Given the description of an element on the screen output the (x, y) to click on. 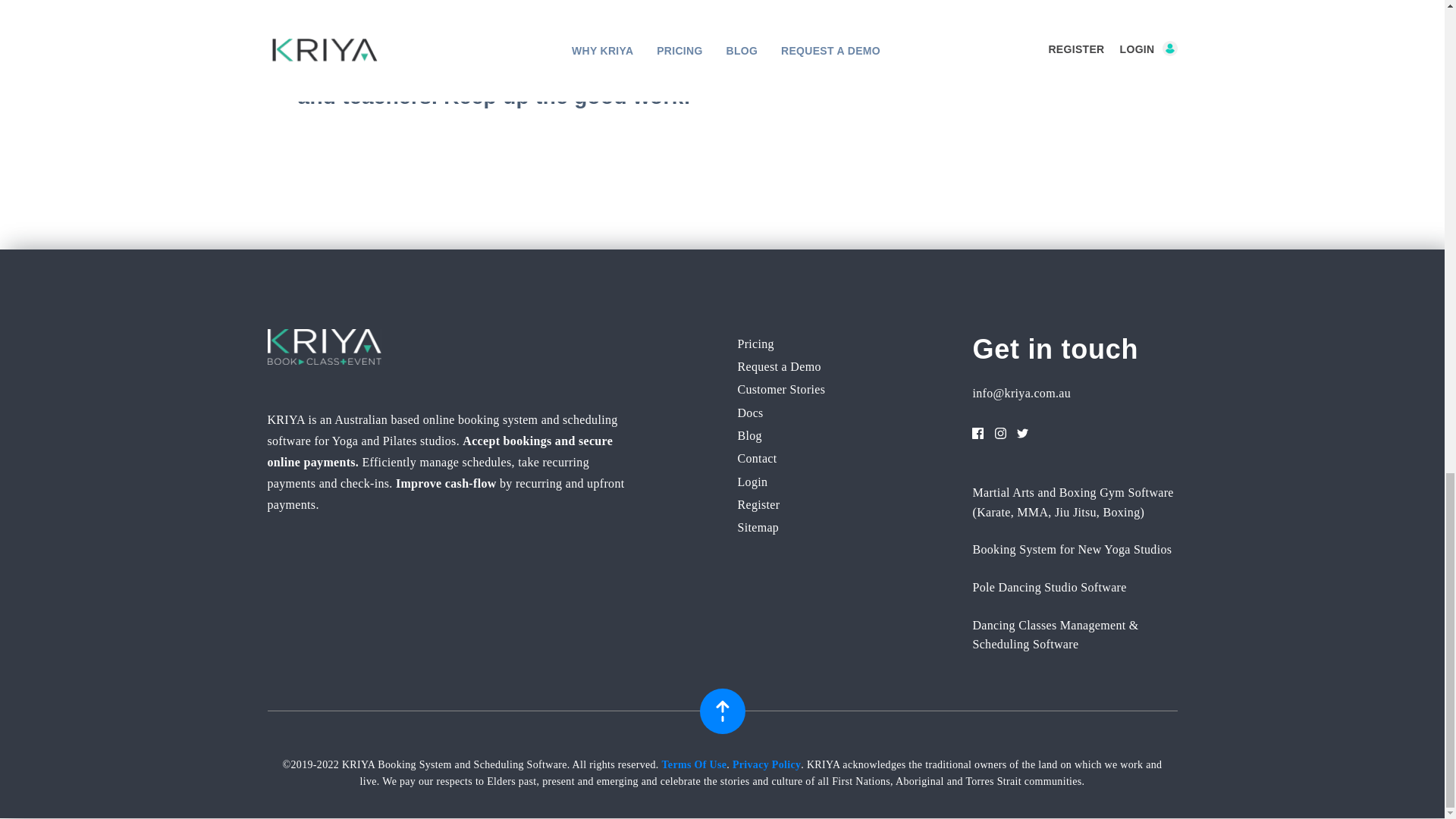
Register (757, 505)
Blog (748, 435)
Privacy Policy (766, 764)
Request a Demo (778, 366)
Booking System for New Yoga Studios (1072, 549)
Pole Dancing Studio Software (1048, 586)
Pricing (754, 343)
Login (751, 481)
Docs (749, 413)
Terms Of Use (693, 764)
